Given the description of an element on the screen output the (x, y) to click on. 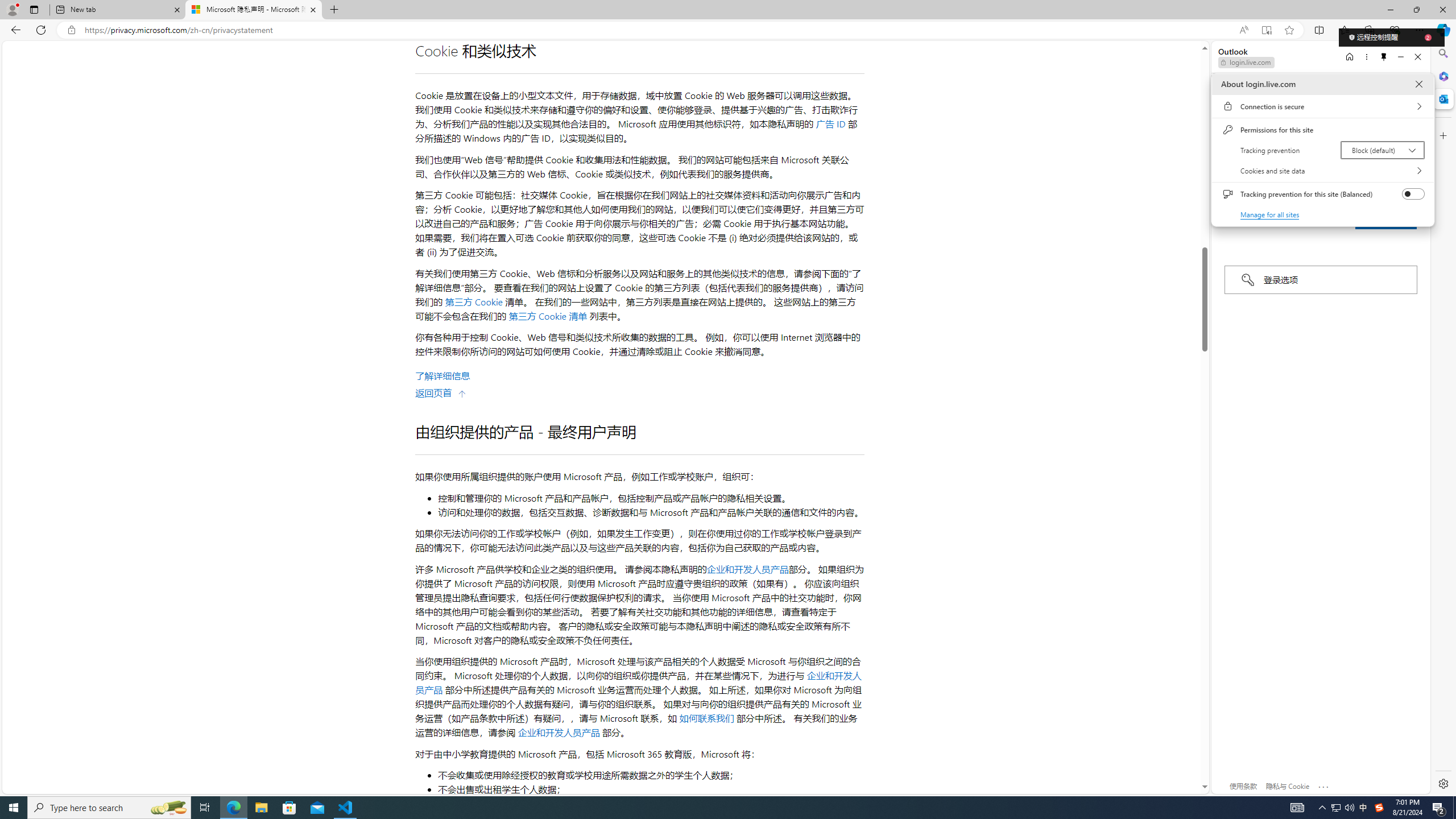
Microsoft Store (1335, 807)
Microsoft Edge - 1 running window (289, 807)
Permissions for this site (233, 807)
Task View (1322, 129)
Start (204, 807)
Tracking prevention Block (default) (13, 807)
Tray Input Indicator - Chinese (Simplified, China) (1382, 149)
Q2790: 100% (1378, 807)
Cookies and site data (1349, 807)
Manage for all sites (1322, 170)
